Given the description of an element on the screen output the (x, y) to click on. 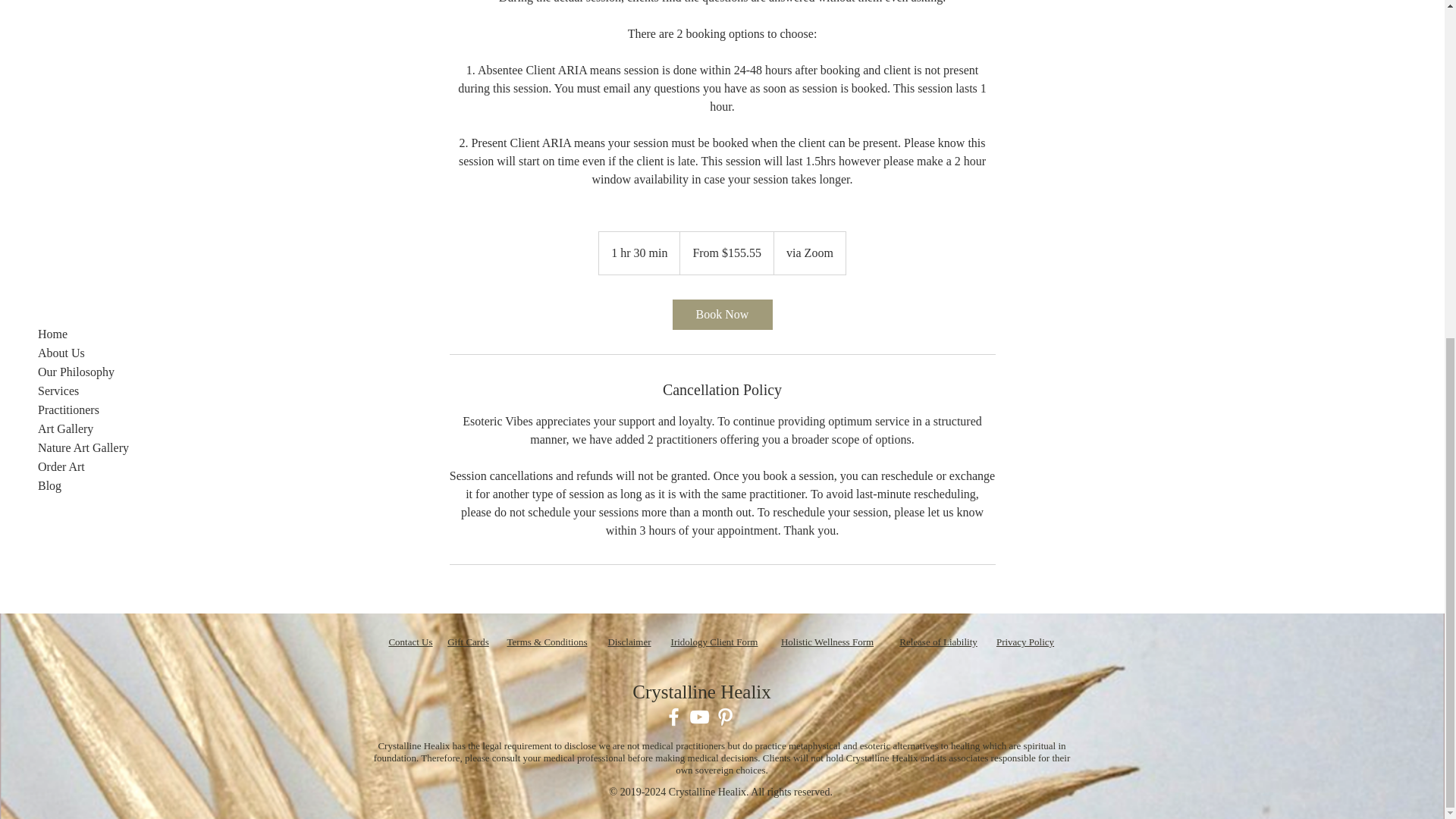
Holistic Wellness Form (826, 641)
Release of Liability (937, 641)
Gift Cards (467, 641)
Book Now (721, 314)
Contact Us (410, 641)
Iridology Client Form (714, 641)
Disclaimer (628, 641)
Privacy Policy (1024, 641)
